Given the description of an element on the screen output the (x, y) to click on. 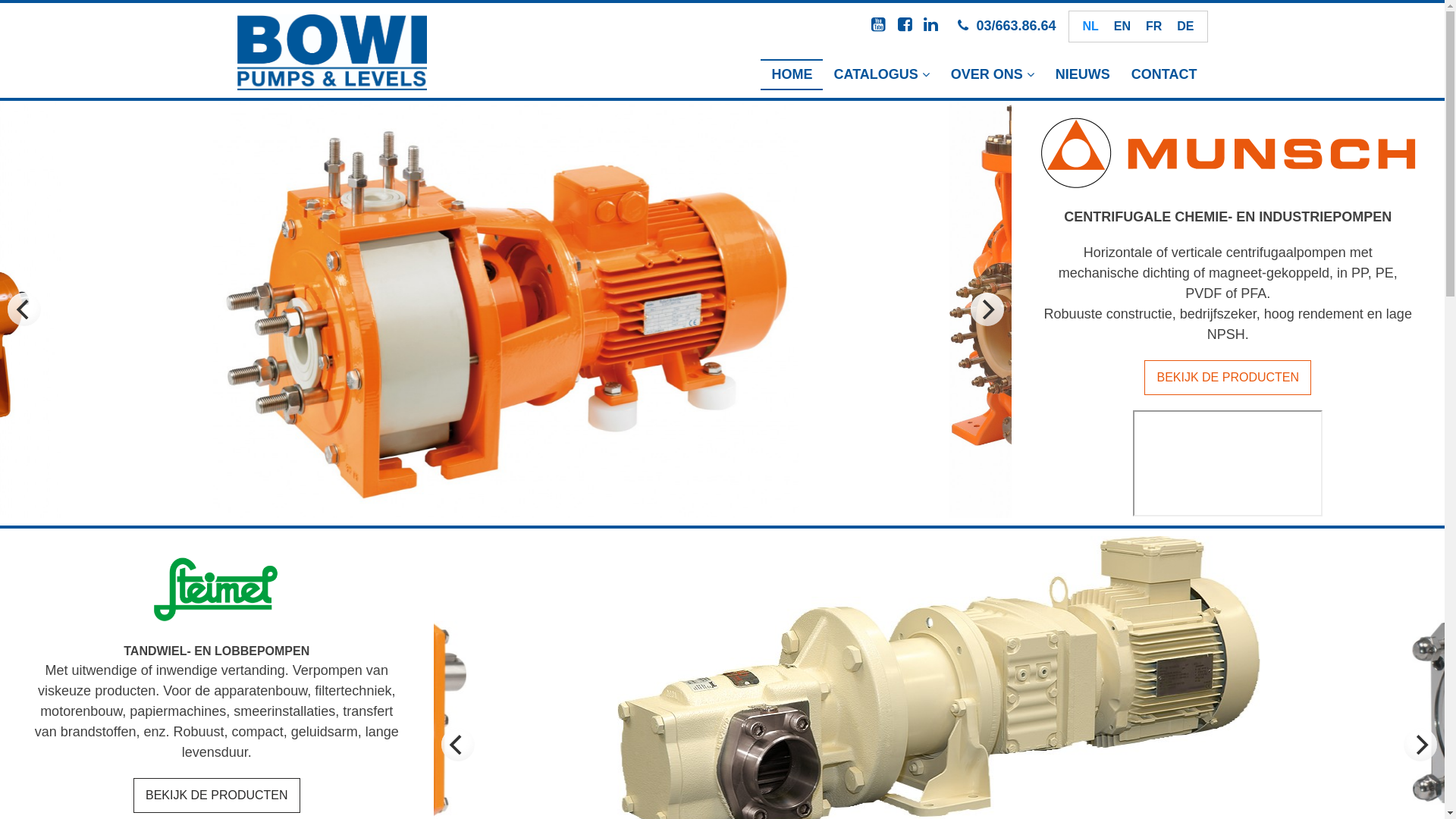
CATALOGUS Element type: text (880, 74)
03/663.86.64 Element type: text (1015, 25)
OVER ONS Element type: text (992, 74)
NL Element type: text (1089, 26)
EN Element type: text (1122, 26)
HOME Element type: text (791, 74)
BEKIJK DE PRODUCTEN Element type: text (1227, 377)
BEKIJK DE PRODUCTEN Element type: text (216, 795)
CONTACT Element type: text (1164, 74)
NIEUWS Element type: text (1082, 74)
FR Element type: text (1153, 26)
BOWI PUMPS & LEVELS BVBA Element type: text (331, 52)
DE Element type: text (1185, 26)
Skip to content Element type: text (0, 0)
